Given the description of an element on the screen output the (x, y) to click on. 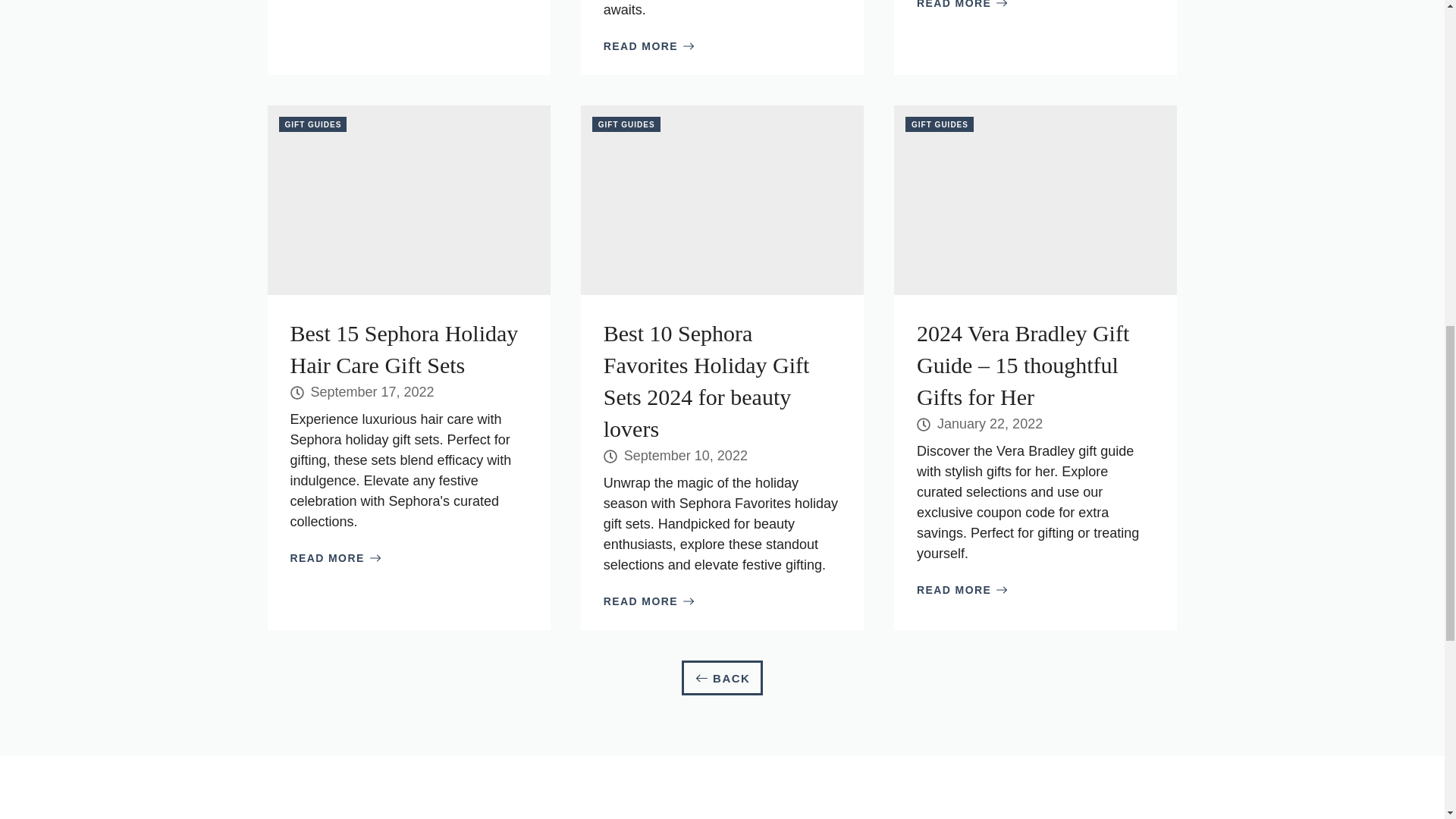
GIFT GUIDES (313, 124)
BACK (721, 678)
GIFT GUIDES (939, 124)
READ MORE (649, 46)
READ MORE (962, 590)
READ MORE (649, 601)
Best 15 Sephora Holiday Hair Care Gift Sets (403, 349)
READ MORE (334, 558)
GIFT GUIDES (626, 124)
READ MORE (962, 5)
